Given the description of an element on the screen output the (x, y) to click on. 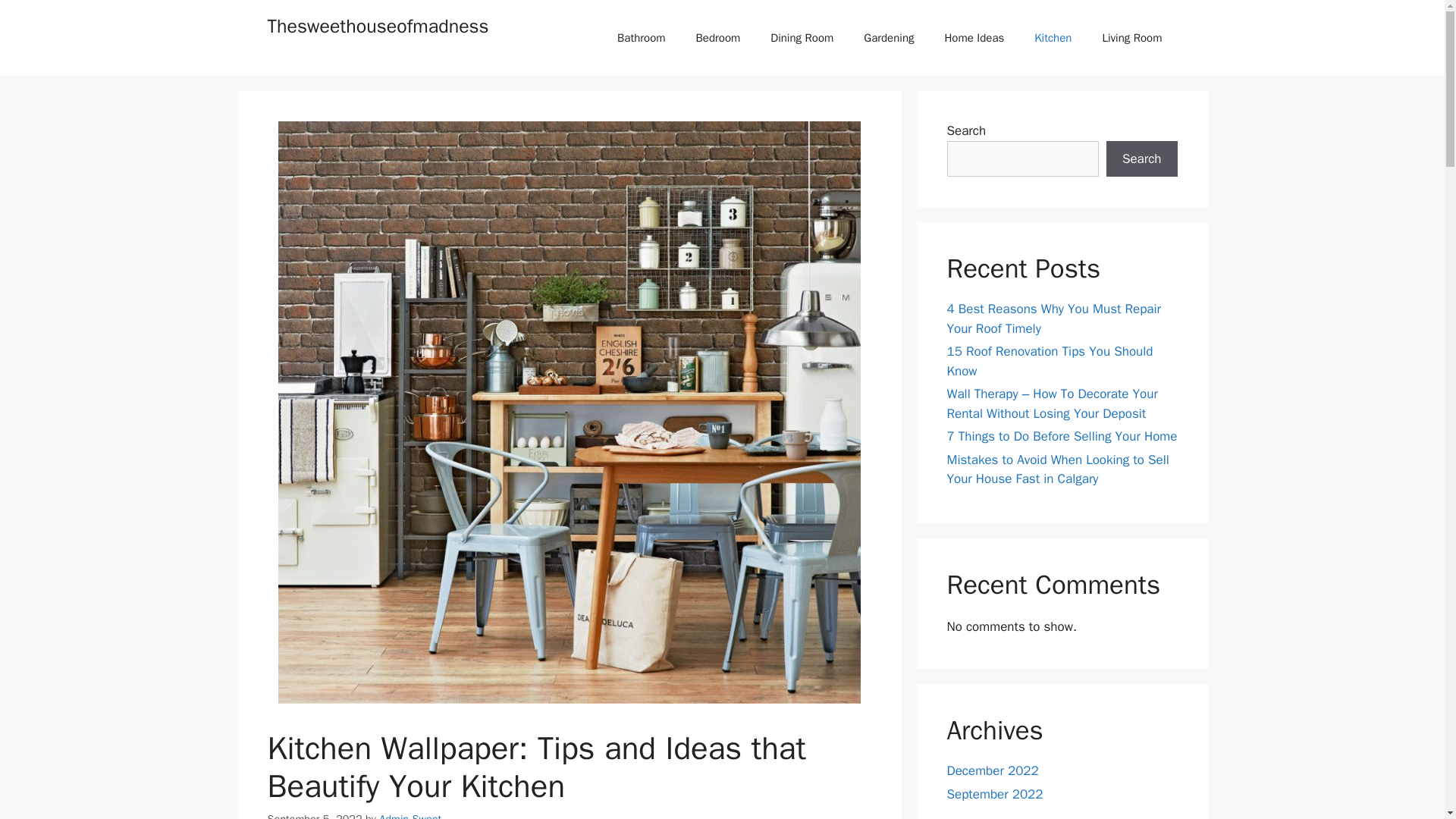
Thesweethouseofmadness (376, 25)
Admin Sweet (409, 815)
Search (1141, 158)
Bedroom (718, 37)
Gardening (888, 37)
Dining Room (801, 37)
Bathroom (641, 37)
December 2022 (992, 770)
View all posts by Admin Sweet (409, 815)
Home Ideas (973, 37)
Living Room (1131, 37)
15 Roof Renovation Tips You Should Know (1049, 361)
7 Things to Do Before Selling Your Home (1061, 436)
4 Best Reasons Why You Must Repair Your Roof Timely (1053, 318)
September 2022 (994, 794)
